Given the description of an element on the screen output the (x, y) to click on. 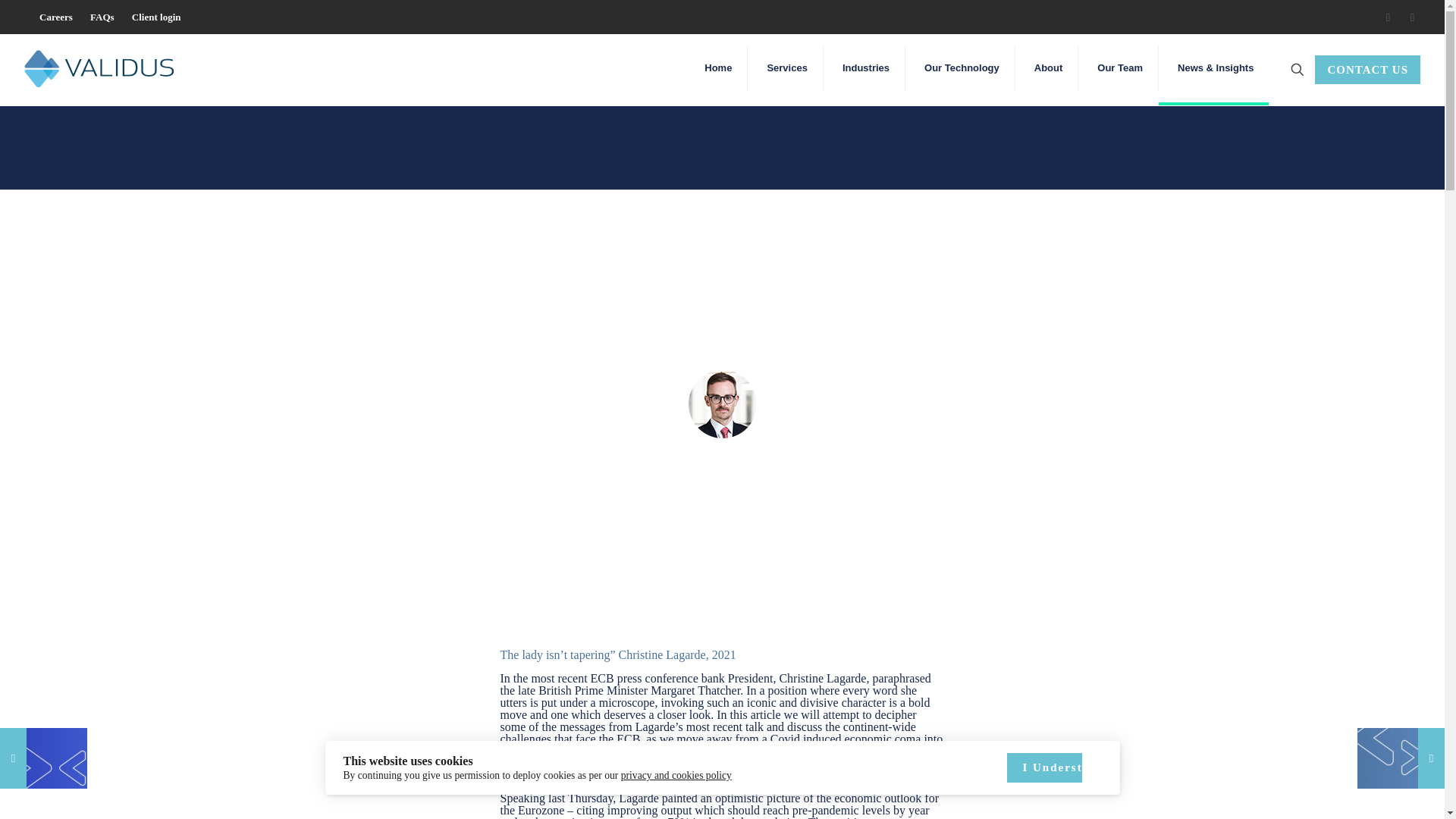
Services (787, 68)
Twitter (1388, 17)
Industries (866, 68)
CONTACT US (1367, 69)
Our Team (1119, 68)
LinkedIn (1413, 17)
FAQs (102, 16)
Our Technology (961, 68)
Client login (156, 16)
Careers (55, 16)
